Given the description of an element on the screen output the (x, y) to click on. 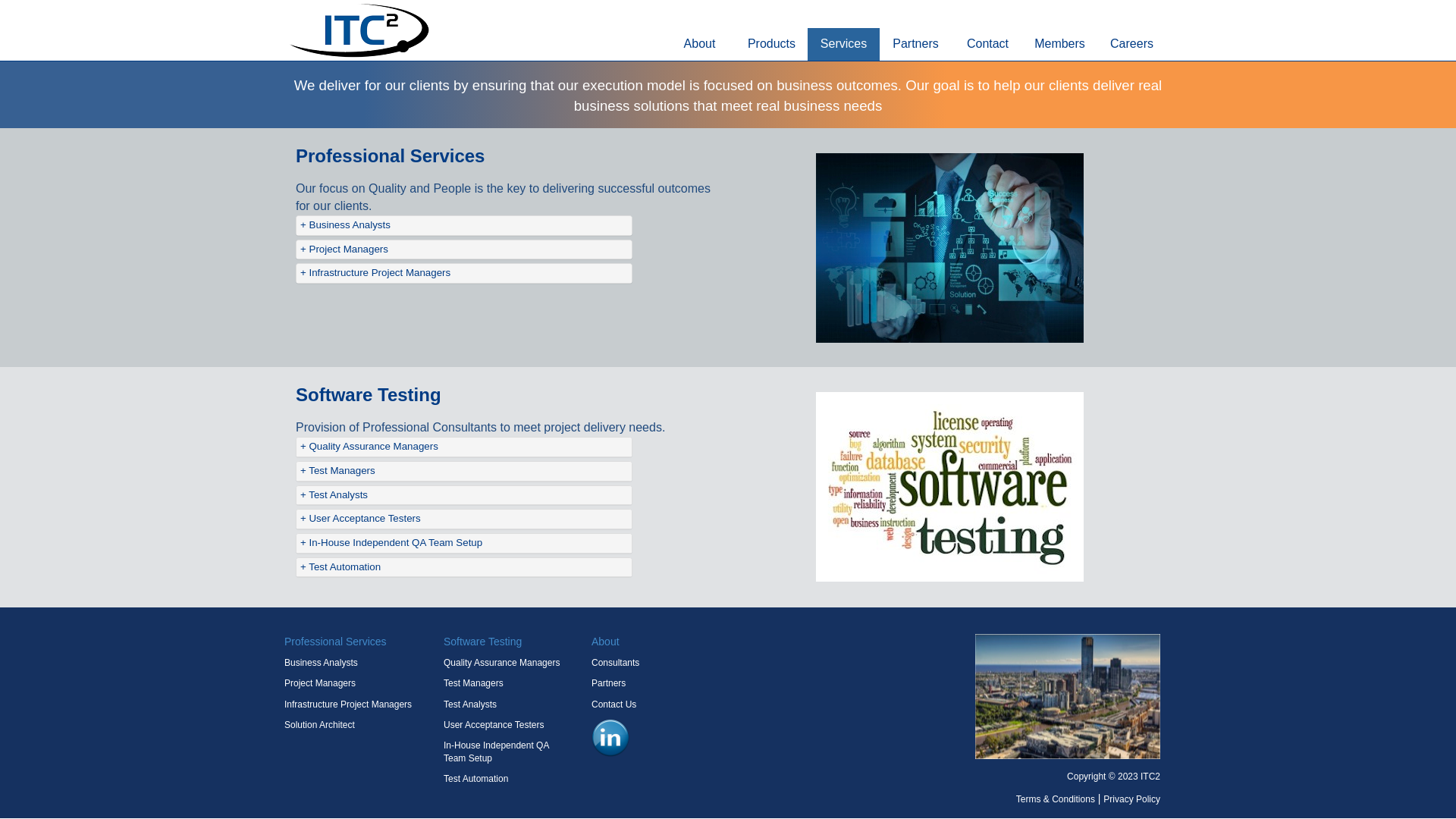
Test Automation Element type: text (475, 778)
Home Element type: hover (357, 28)
+ In-House Independent QA Team Setup Element type: text (463, 542)
In-House Independent QA Team Setup Element type: text (496, 751)
+ Test Automation Element type: text (463, 567)
Services Element type: text (843, 44)
About Element type: text (605, 641)
Terms & Conditions Element type: text (1055, 798)
Quality Assurance Managers Element type: text (501, 662)
Members Element type: text (1059, 44)
+ Test Managers Element type: text (463, 470)
Test Analysts Element type: text (469, 704)
About Element type: text (699, 44)
+ Test Analysts Element type: text (463, 495)
User Acceptance Testers Element type: text (493, 724)
Careers Element type: text (1131, 44)
LinkedIn Element type: hover (610, 737)
+ User Acceptance Testers Element type: text (463, 518)
Contact Us Element type: text (613, 704)
Partners Element type: text (608, 682)
+ Business Analysts Element type: text (463, 225)
Business Analysts Element type: text (320, 662)
+ Project Managers Element type: text (463, 249)
Consultants Element type: text (615, 662)
Partners Element type: text (915, 44)
Privacy Policy Element type: text (1131, 798)
Test Managers Element type: text (473, 682)
Products Element type: text (771, 44)
Project Managers Element type: text (319, 682)
+ Quality Assurance Managers Element type: text (463, 446)
Infrastructure Project Managers Element type: text (347, 704)
+ Infrastructure Project Managers Element type: text (463, 272)
Contact Element type: text (987, 44)
Solution Architect Element type: text (319, 724)
